Given the description of an element on the screen output the (x, y) to click on. 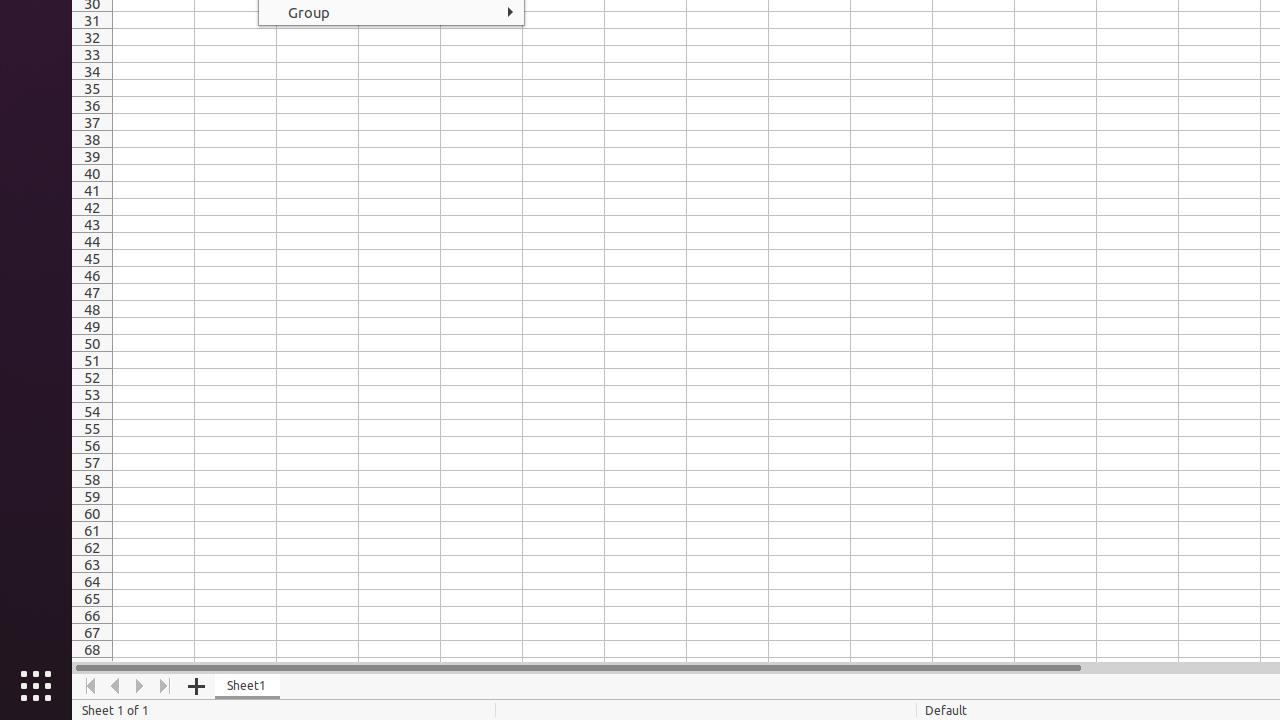
Group Element type: menu (391, 12)
Move To Home Element type: push-button (90, 686)
